Given the description of an element on the screen output the (x, y) to click on. 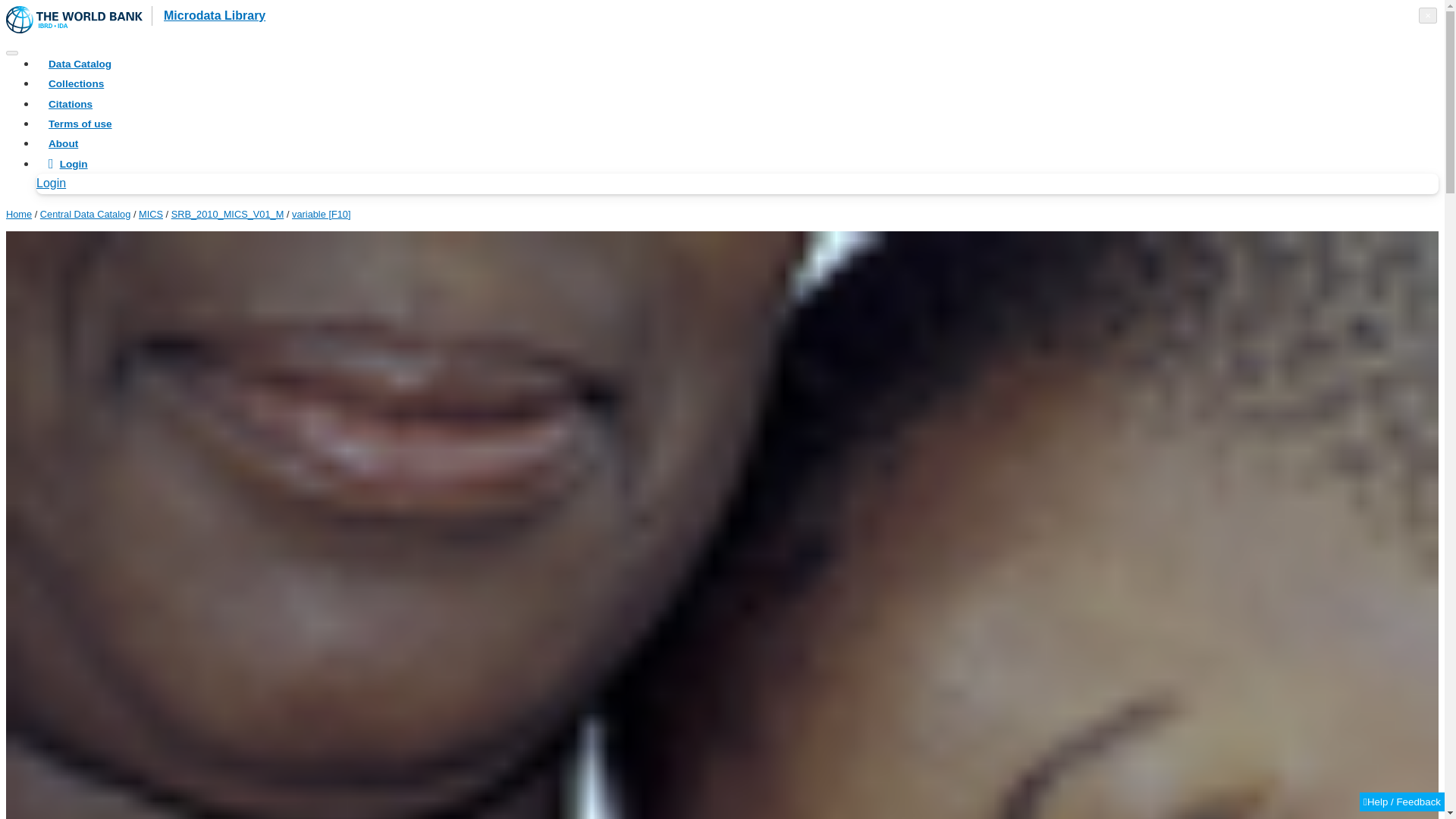
The World Bank Working for a World Free of Poverty (74, 19)
Citations (70, 103)
Central Data Catalog (85, 214)
Login (67, 163)
Collections (75, 82)
Data Catalog (80, 63)
Login (75, 182)
Terms of use (80, 123)
Microdata Library (207, 15)
Home (18, 214)
MICS (150, 214)
About (63, 142)
